Given the description of an element on the screen output the (x, y) to click on. 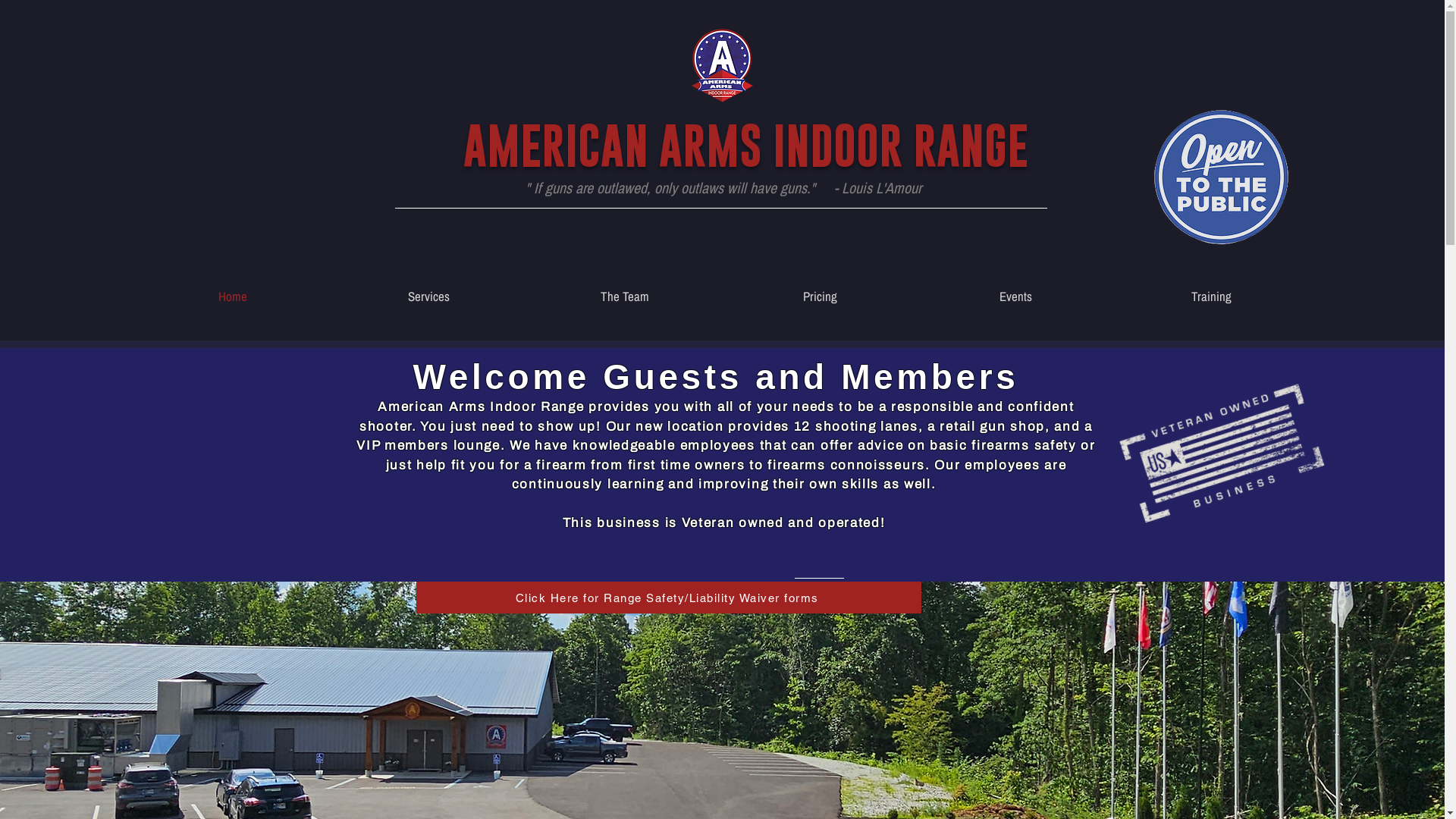
The Team Element type: text (623, 295)
Pricing Element type: text (819, 295)
Events Element type: text (1015, 295)
Training Element type: text (1210, 295)
Home Element type: text (232, 295)
Services Element type: text (428, 295)
Click Here for Range Safety/Liability Waiver forms Element type: text (667, 597)
